Given the description of an element on the screen output the (x, y) to click on. 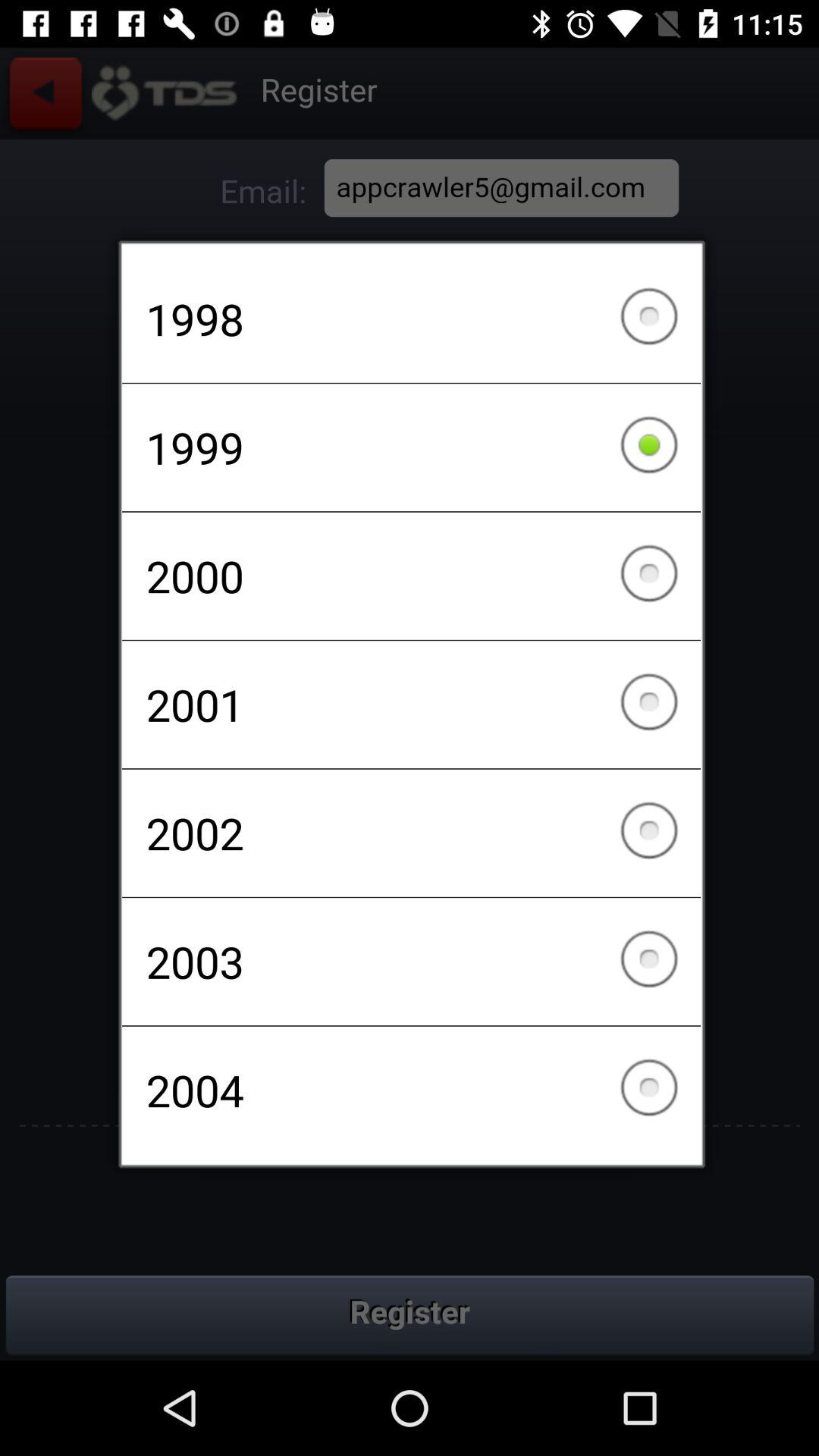
select the checkbox below the 1999 item (411, 575)
